Given the description of an element on the screen output the (x, y) to click on. 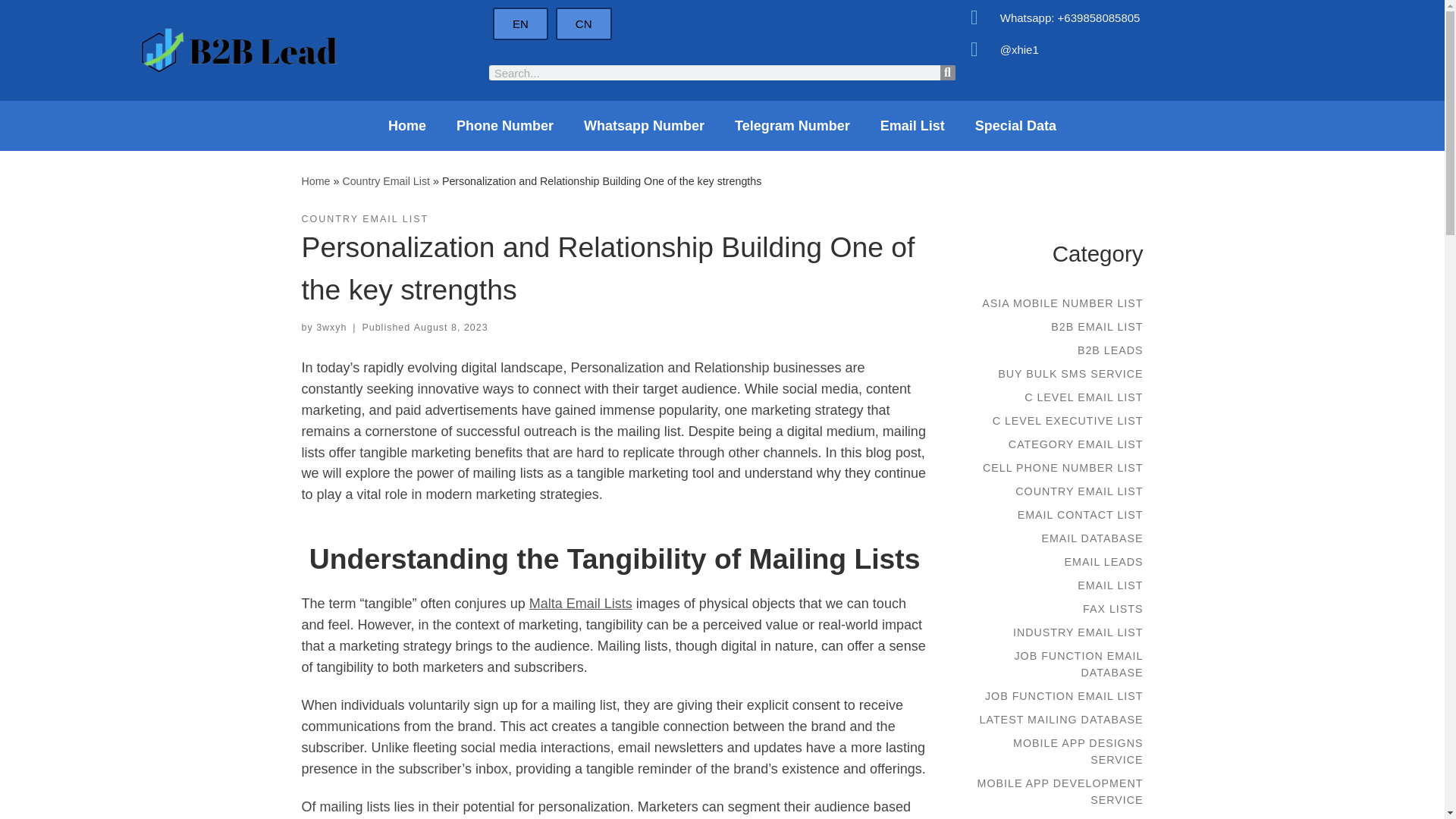
Telegram Number (791, 125)
B2B Lead (315, 180)
August 8, 2023 (450, 327)
Home (406, 125)
Special Data (1015, 125)
CN (583, 23)
COUNTRY EMAIL LIST (365, 219)
Phone Number (505, 125)
View all posts in Country Email List (365, 219)
3wxyh (330, 327)
